Given the description of an element on the screen output the (x, y) to click on. 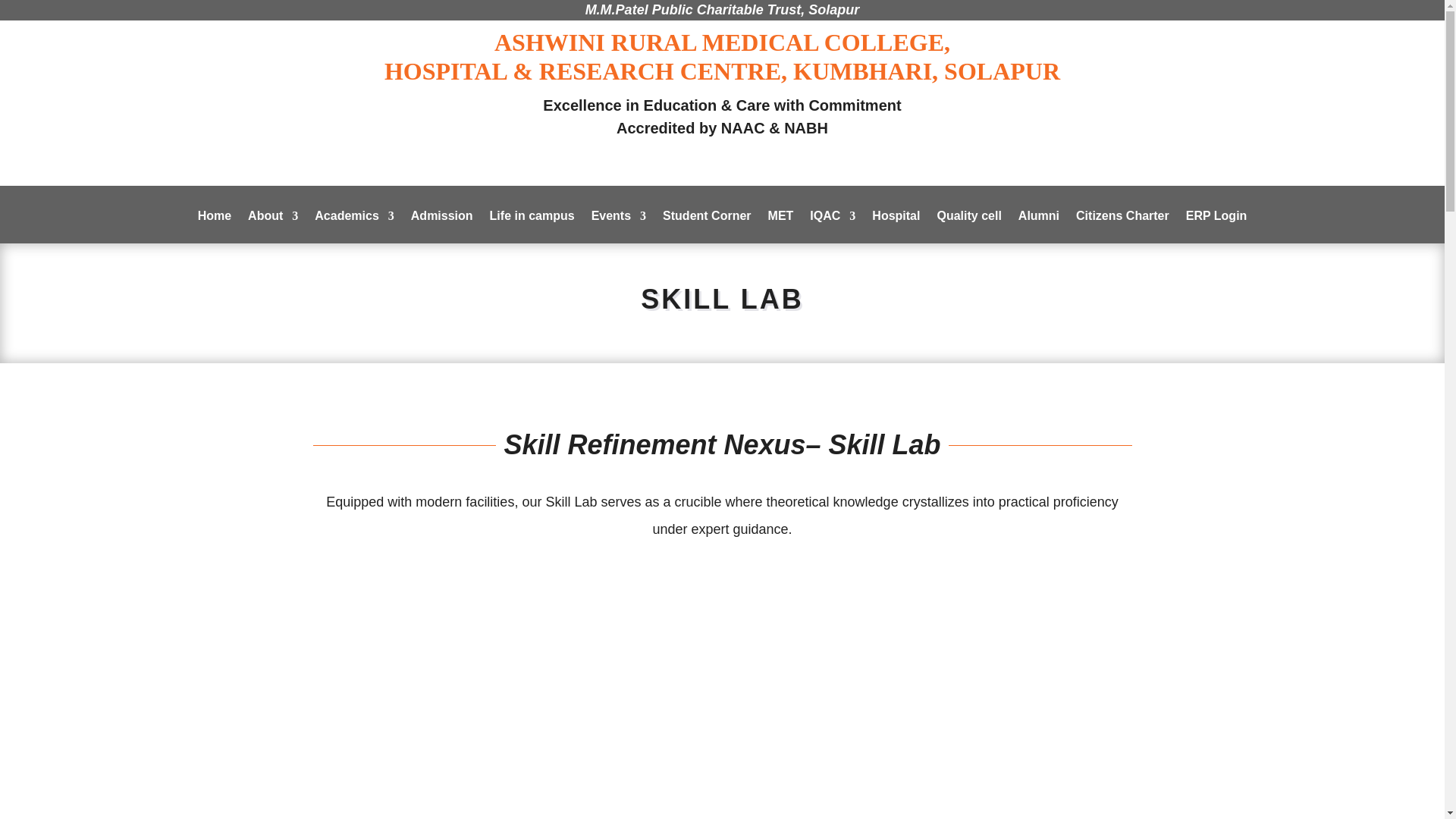
Life in campus (532, 226)
Events (618, 226)
1 (112, 97)
Student Corner (706, 226)
Home (214, 226)
2 (1331, 106)
Citizens Charter (1122, 226)
Hospital (896, 226)
About (272, 226)
ERP Login (1216, 226)
